Given the description of an element on the screen output the (x, y) to click on. 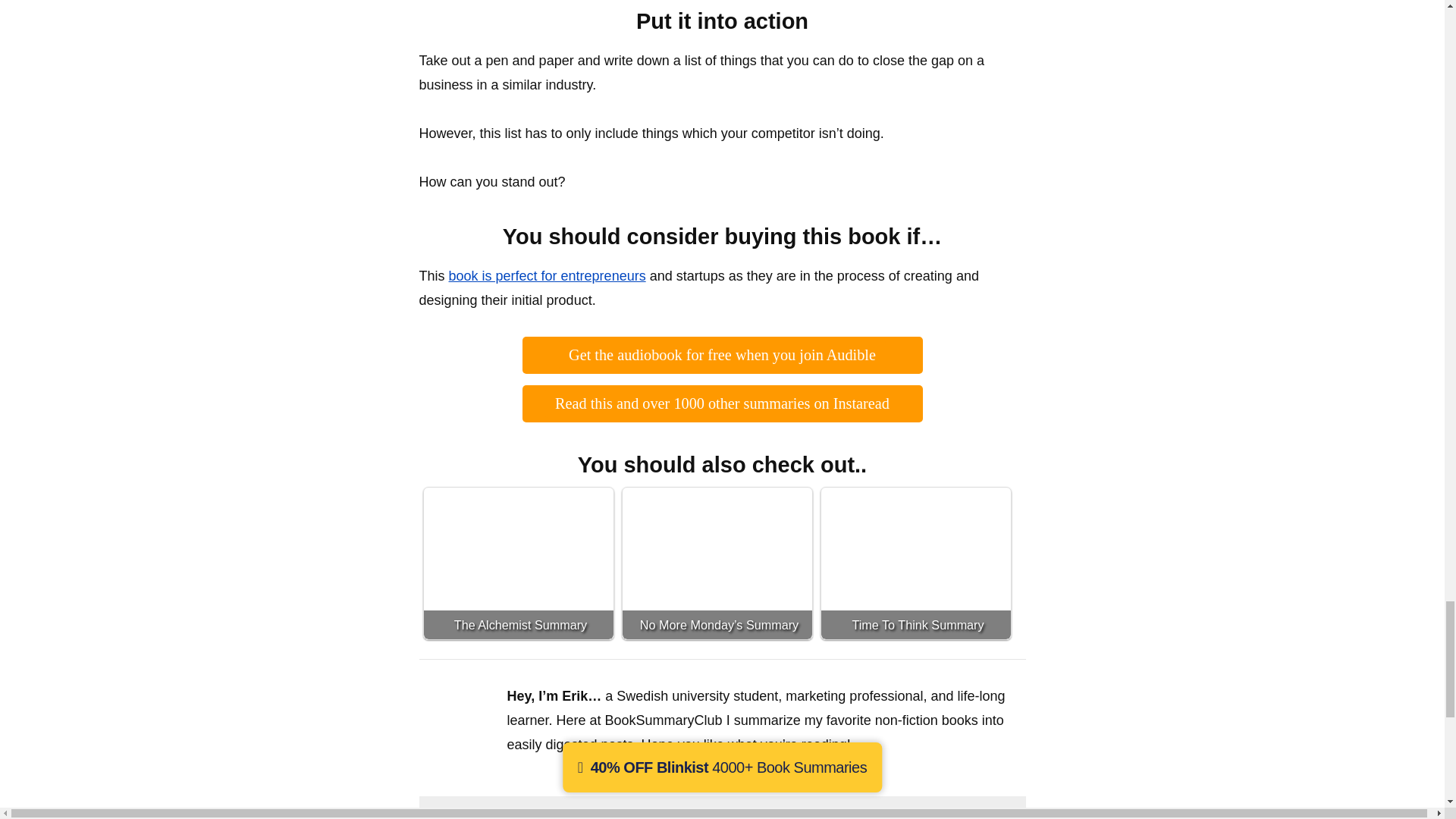
The Alchemist Summary (517, 563)
book is perfect for entrepreneurs (547, 275)
Time To Think Summary (915, 563)
The Alchemist Summary (517, 563)
Get the audiobook for free when you join Audible (721, 354)
Read this and over 1000 other summaries on Instaread (722, 403)
